Given the description of an element on the screen output the (x, y) to click on. 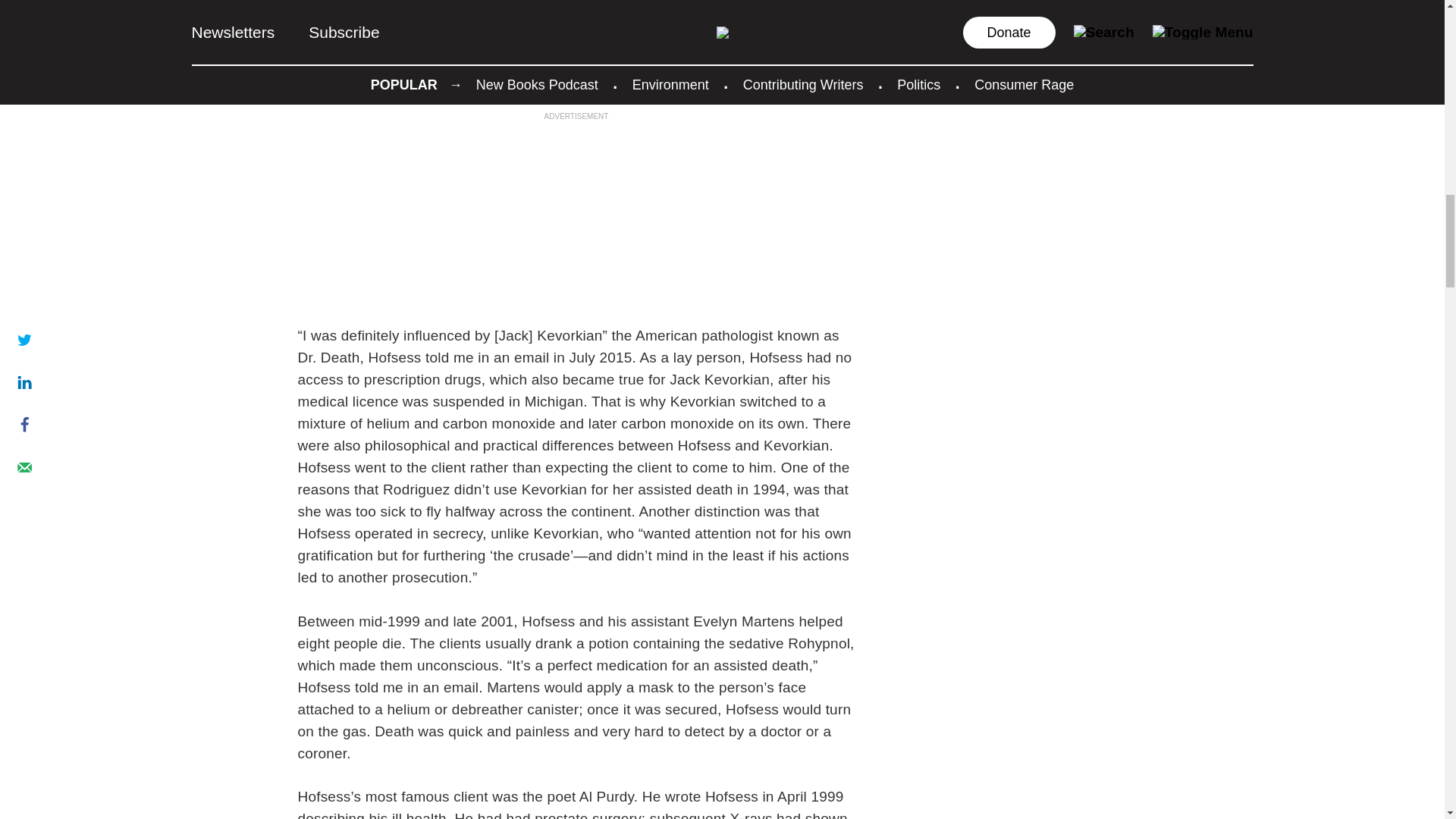
3rd party ad content (576, 217)
